Given the description of an element on the screen output the (x, y) to click on. 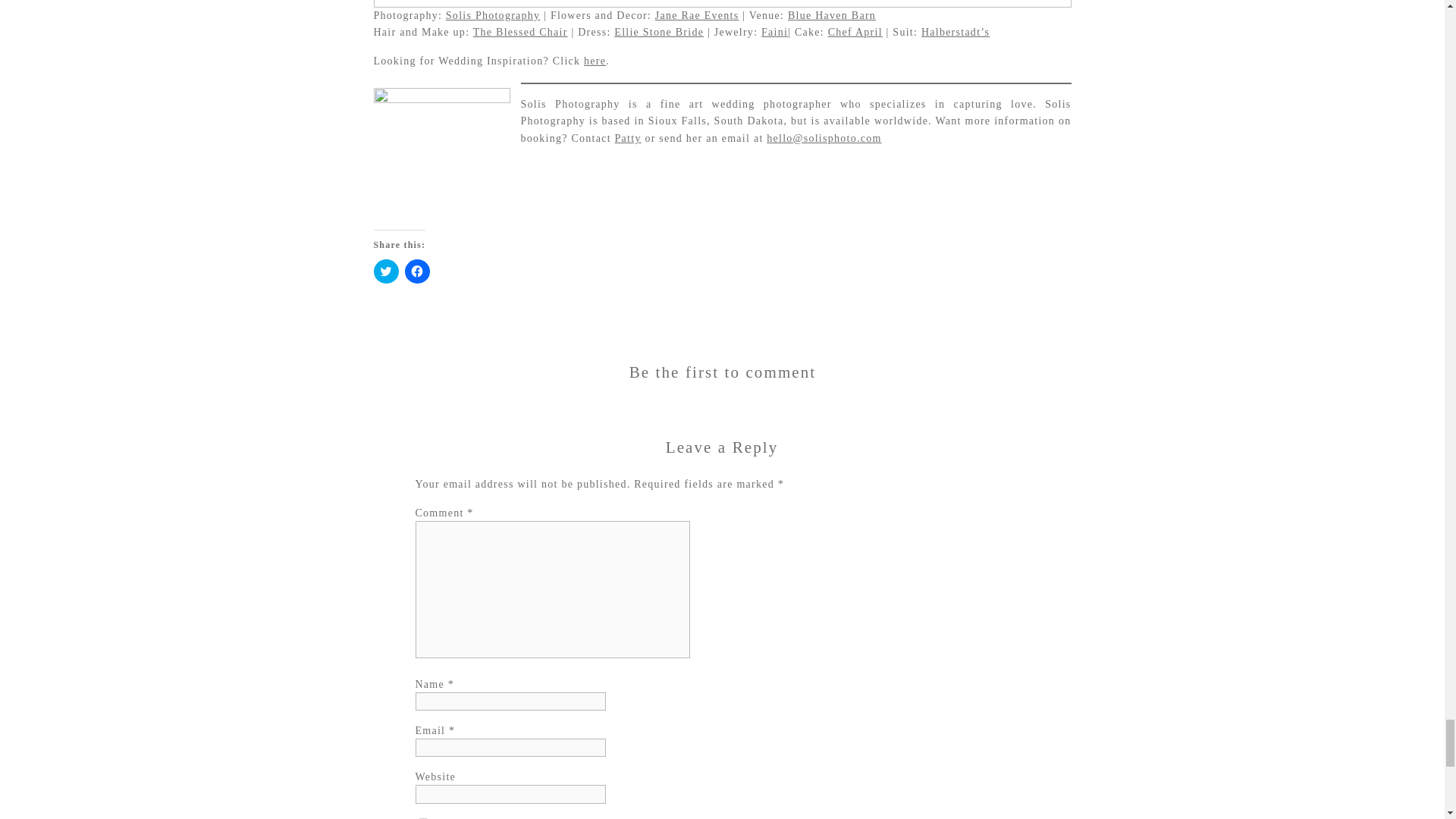
The Blessed Chair (520, 31)
Chef April (855, 31)
Click to share on Facebook (416, 271)
Be the first to comment (722, 372)
Patty (628, 138)
Click to share on Twitter (384, 271)
Blue Haven Barn (831, 15)
Solis Photography (492, 15)
here (594, 60)
